Given the description of an element on the screen output the (x, y) to click on. 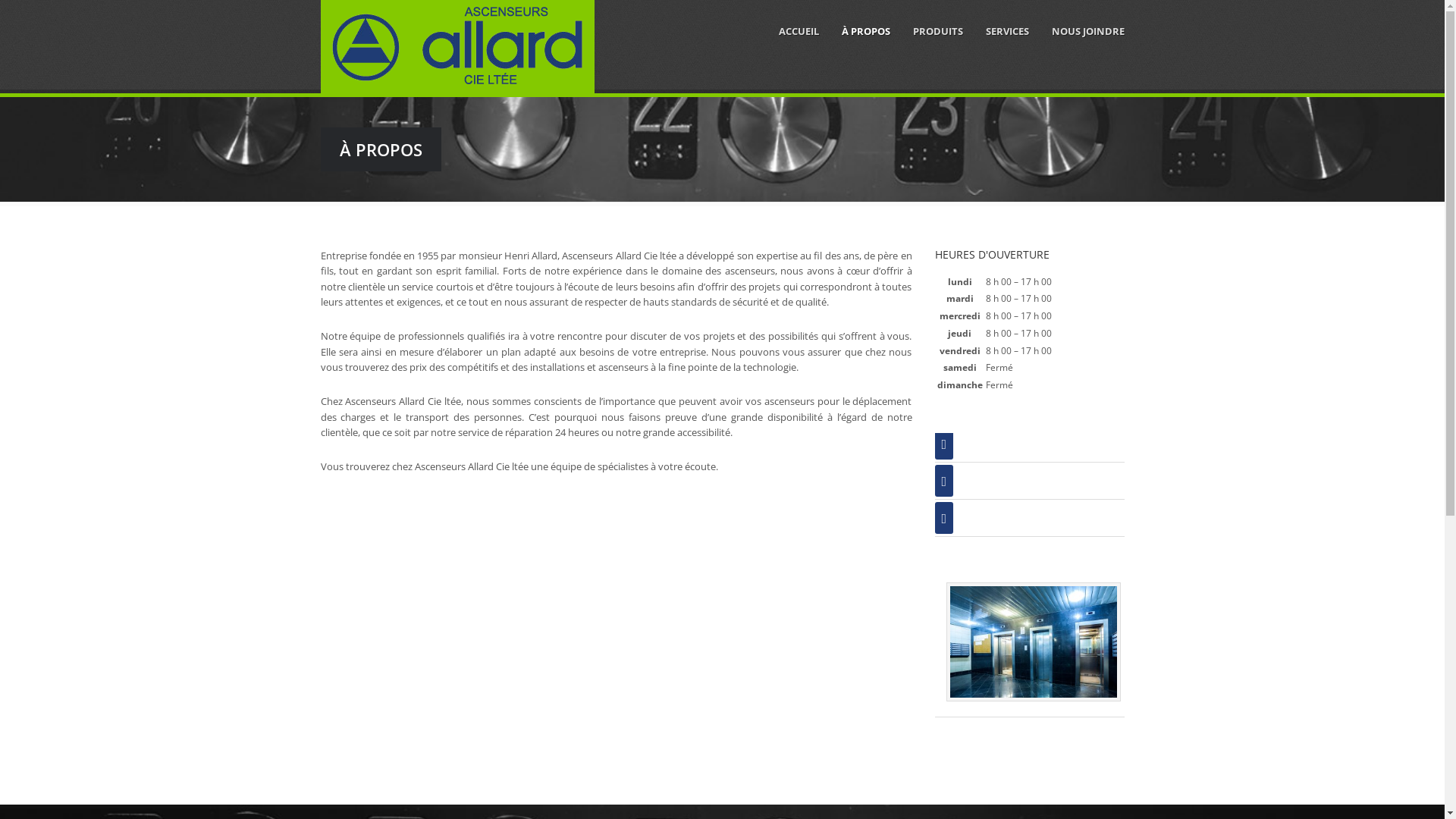
SERVICES Element type: text (1007, 30)
ACCUEIL Element type: text (798, 30)
NOUS JOINDRE Element type: text (1087, 30)
PRODUITS Element type: text (938, 30)
